Given the description of an element on the screen output the (x, y) to click on. 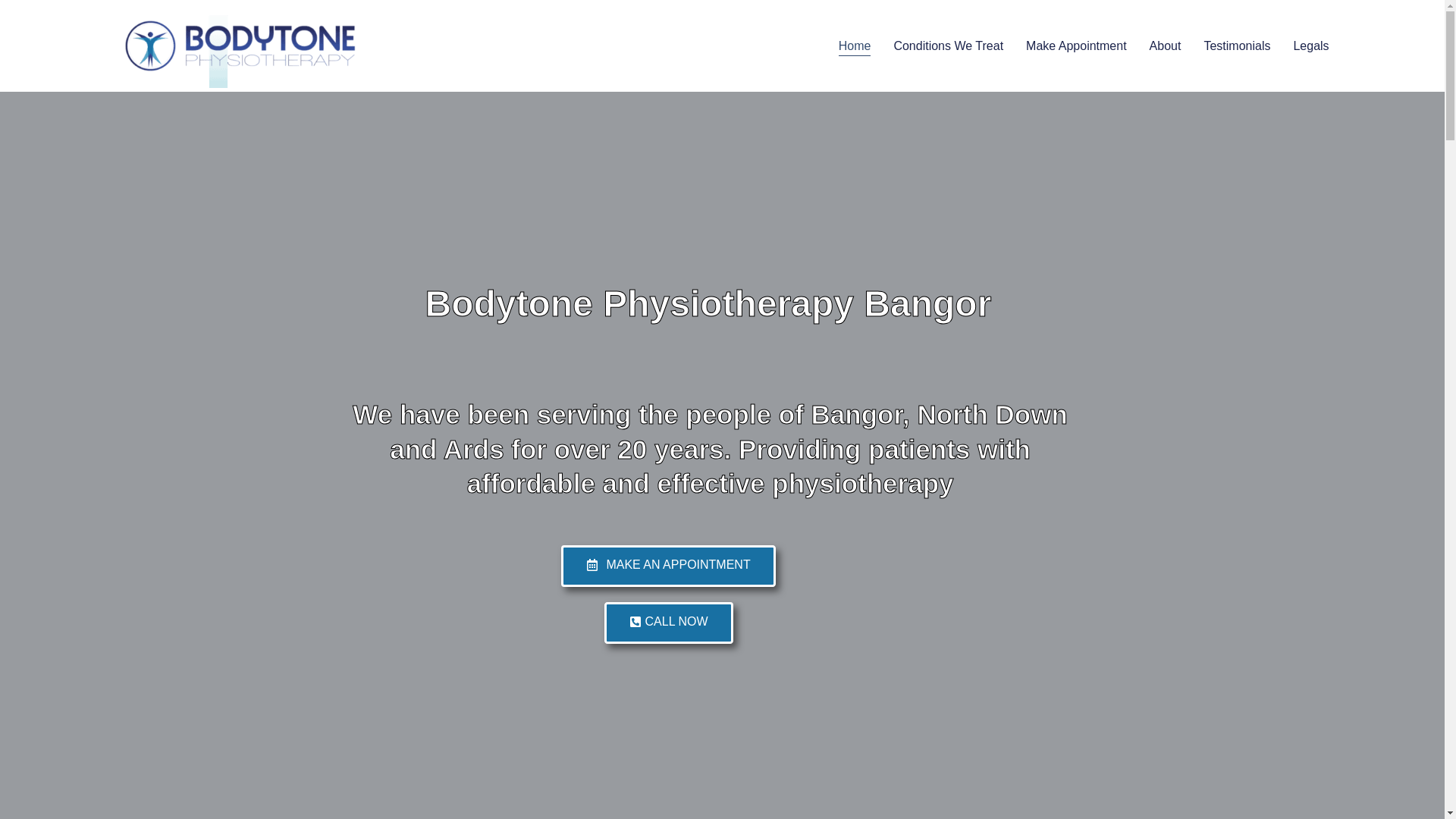
CALL NOW (668, 622)
About (1165, 46)
Conditions We Treat (948, 46)
Make Appointment (1076, 46)
Testimonials (1236, 46)
Legals (1309, 46)
Home (854, 46)
MAKE AN APPOINTMENT (667, 566)
